Given the description of an element on the screen output the (x, y) to click on. 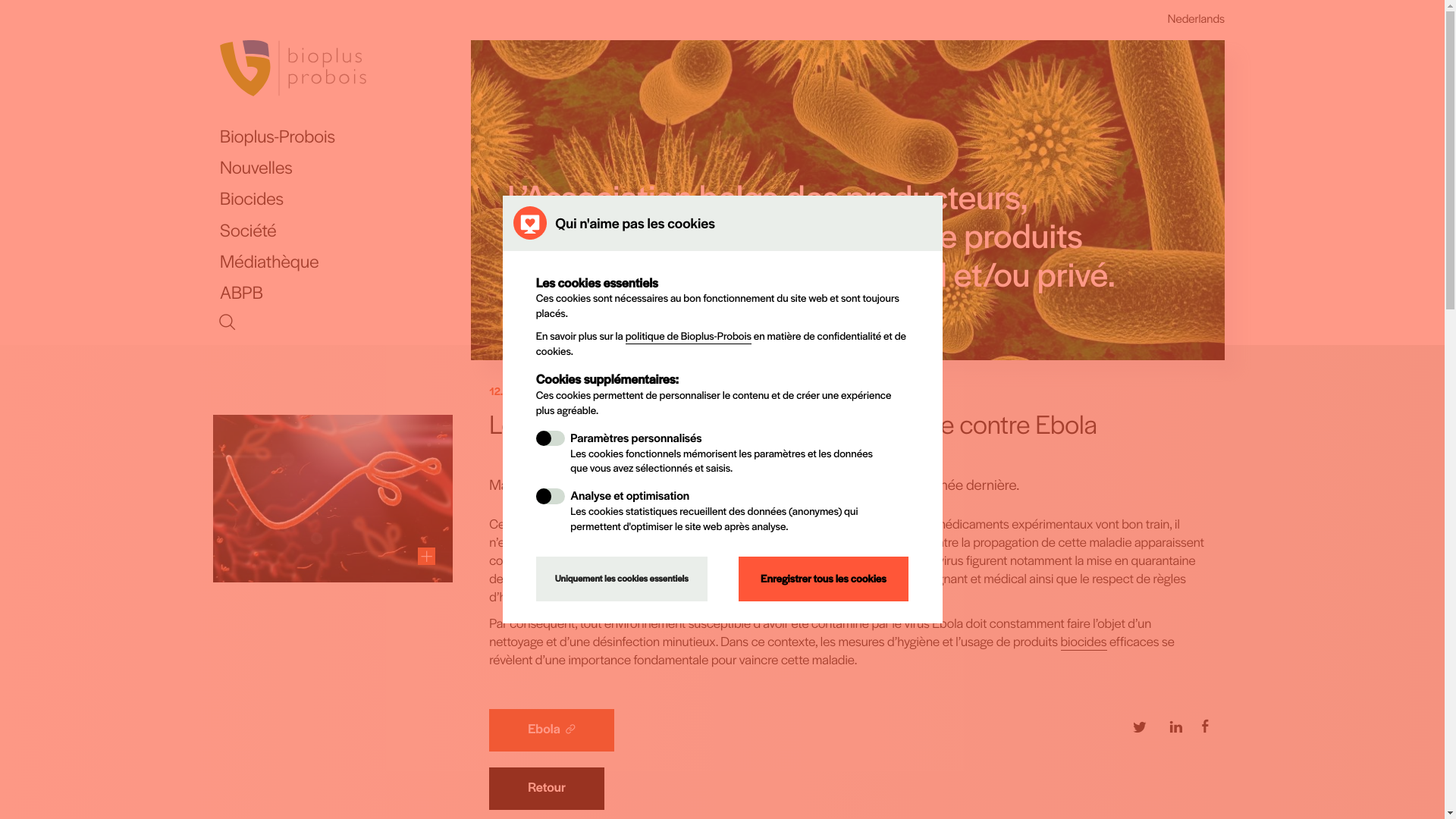
biocides Element type: text (1083, 640)
Nederlands Element type: text (1195, 18)
ABPB Element type: text (344, 291)
Retour Element type: text (546, 788)
politique de Bioplus-Probois Element type: text (688, 336)
Biocides Element type: text (344, 197)
Uniquement les cookies essentiels Element type: text (621, 578)
Nouvelles Element type: text (344, 166)
Ebola Element type: text (551, 730)
Bioplus-Probois Element type: text (344, 135)
Enregistrer tous les cookies Element type: text (823, 578)
